Given the description of an element on the screen output the (x, y) to click on. 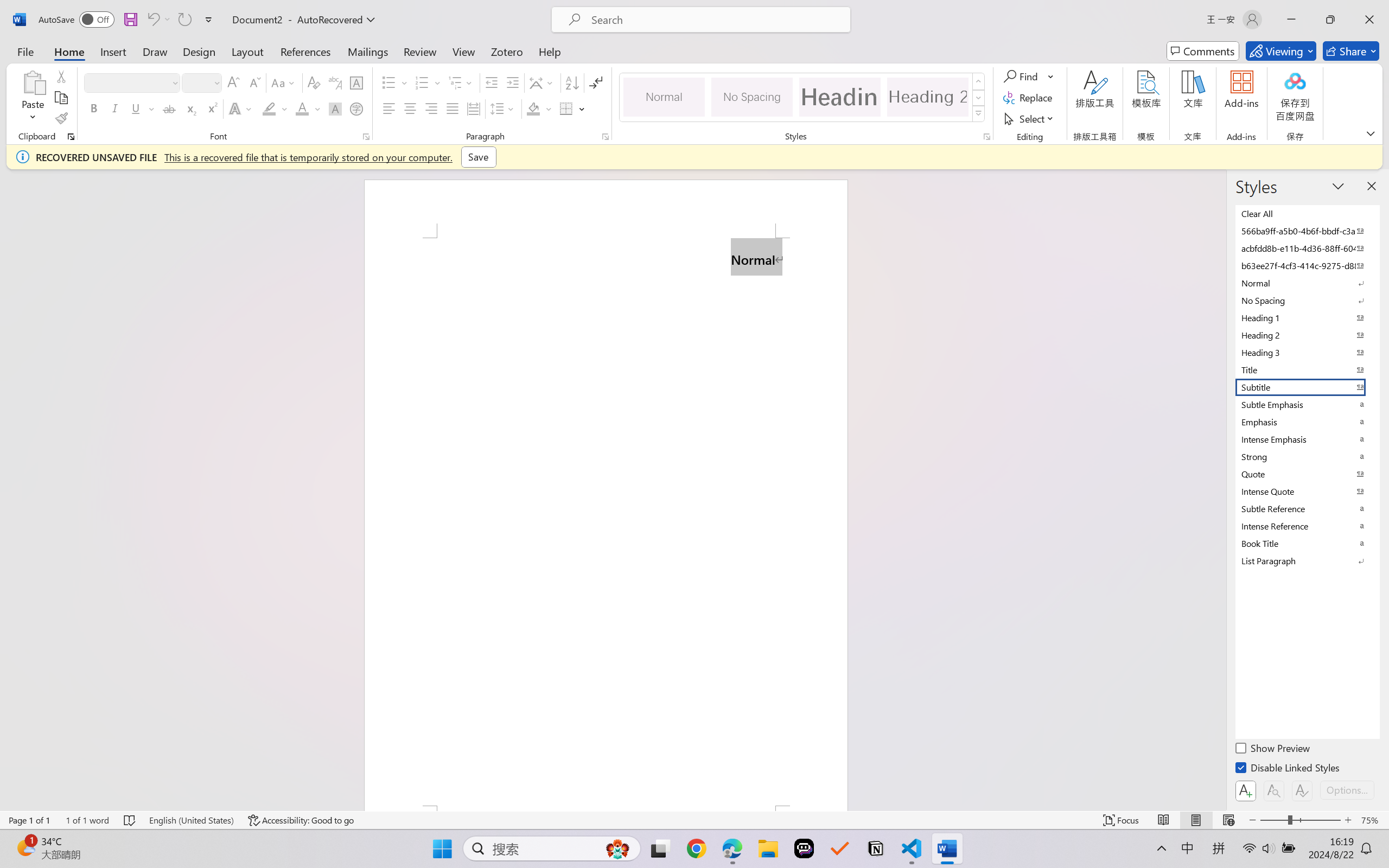
No Spacing (1306, 300)
Class: NetUIButton (1301, 790)
Clear All (1306, 213)
566ba9ff-a5b0-4b6f-bbdf-c3ab41993fc2 (1306, 230)
Can't Undo (158, 19)
Align Right (431, 108)
Clear Formatting (313, 82)
Shading RGB(0, 0, 0) (533, 108)
